Given the description of an element on the screen output the (x, y) to click on. 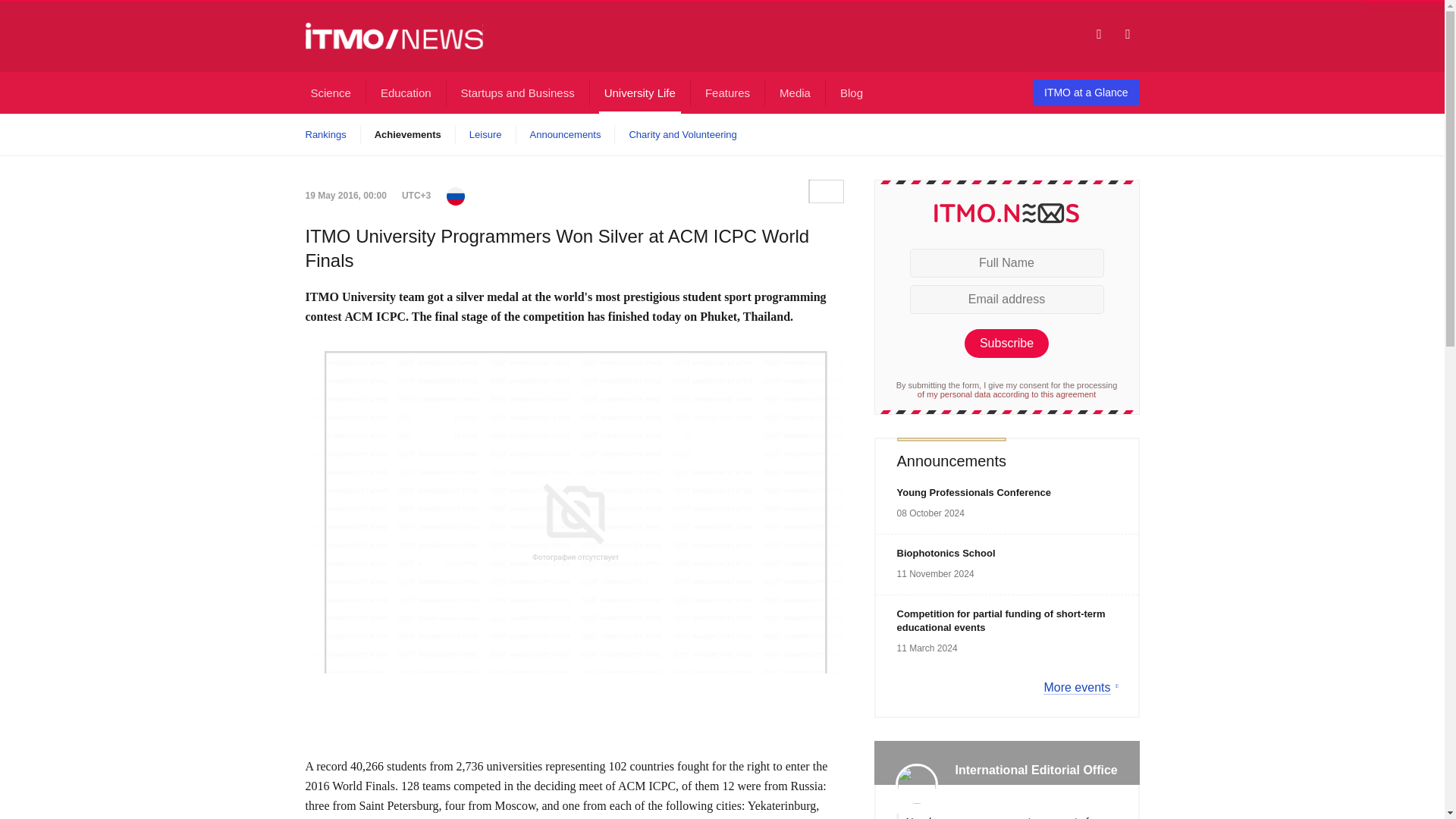
Startups and Business (517, 92)
University Life (639, 92)
VKontakte (825, 190)
Education (405, 92)
Features (727, 92)
Science (329, 92)
